Given the description of an element on the screen output the (x, y) to click on. 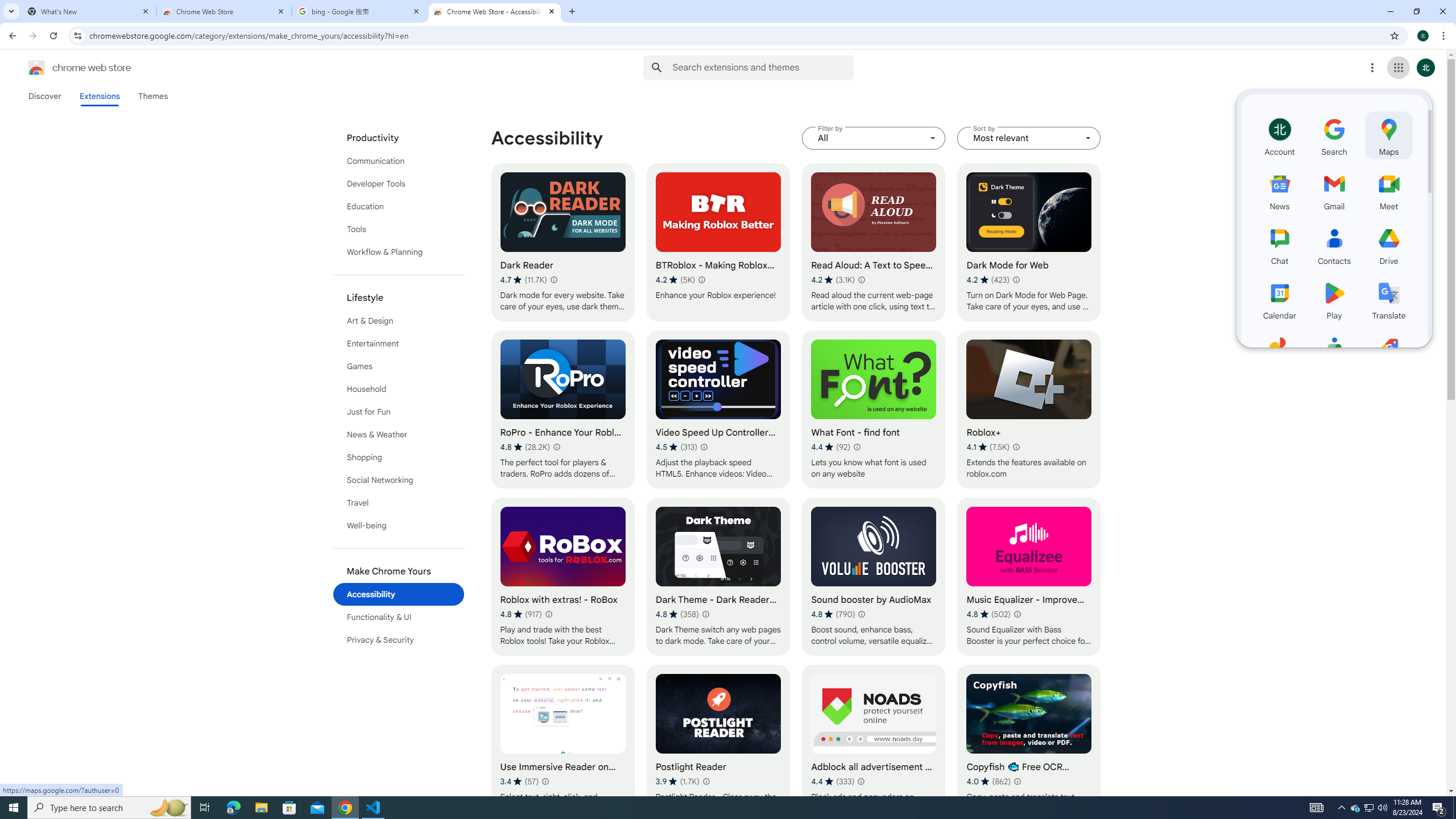
Back (10, 35)
Art & Design (398, 320)
Dark Reader (562, 241)
What Font - find font (874, 409)
Just for Fun (398, 411)
Tools (398, 228)
Games (398, 365)
Bookmark this tab (1393, 35)
Chrome (1445, 35)
Communication (398, 160)
